Given the description of an element on the screen output the (x, y) to click on. 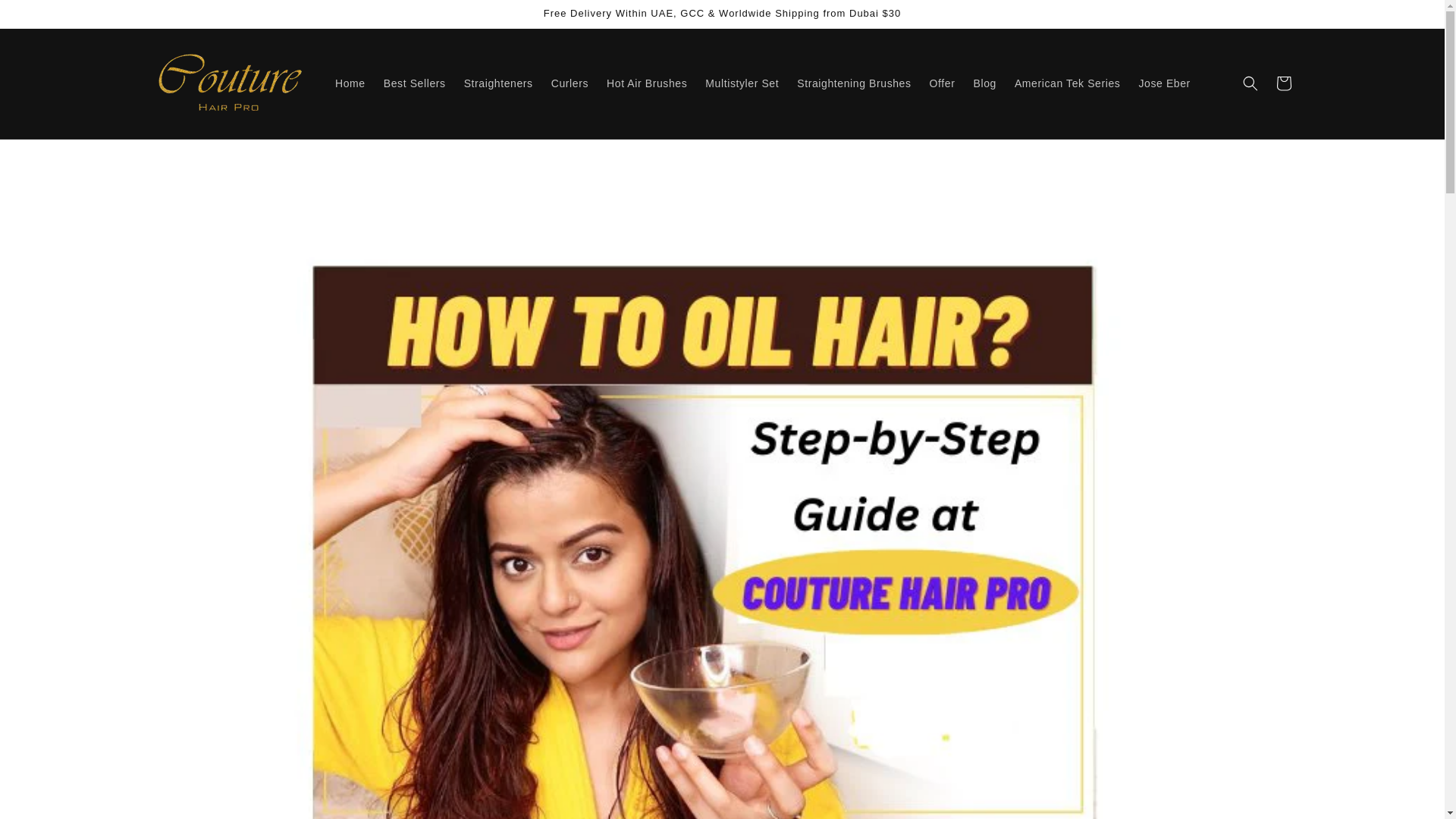
Hot Air Brushes (645, 83)
American Tek Series (1067, 83)
Blog (983, 83)
Best Sellers (414, 83)
Curlers (568, 83)
Straighteners (497, 83)
Jose Eber (1163, 83)
Multistyler Set (741, 83)
Straightening Brushes (853, 83)
Offer (941, 83)
Home (350, 83)
